Given the description of an element on the screen output the (x, y) to click on. 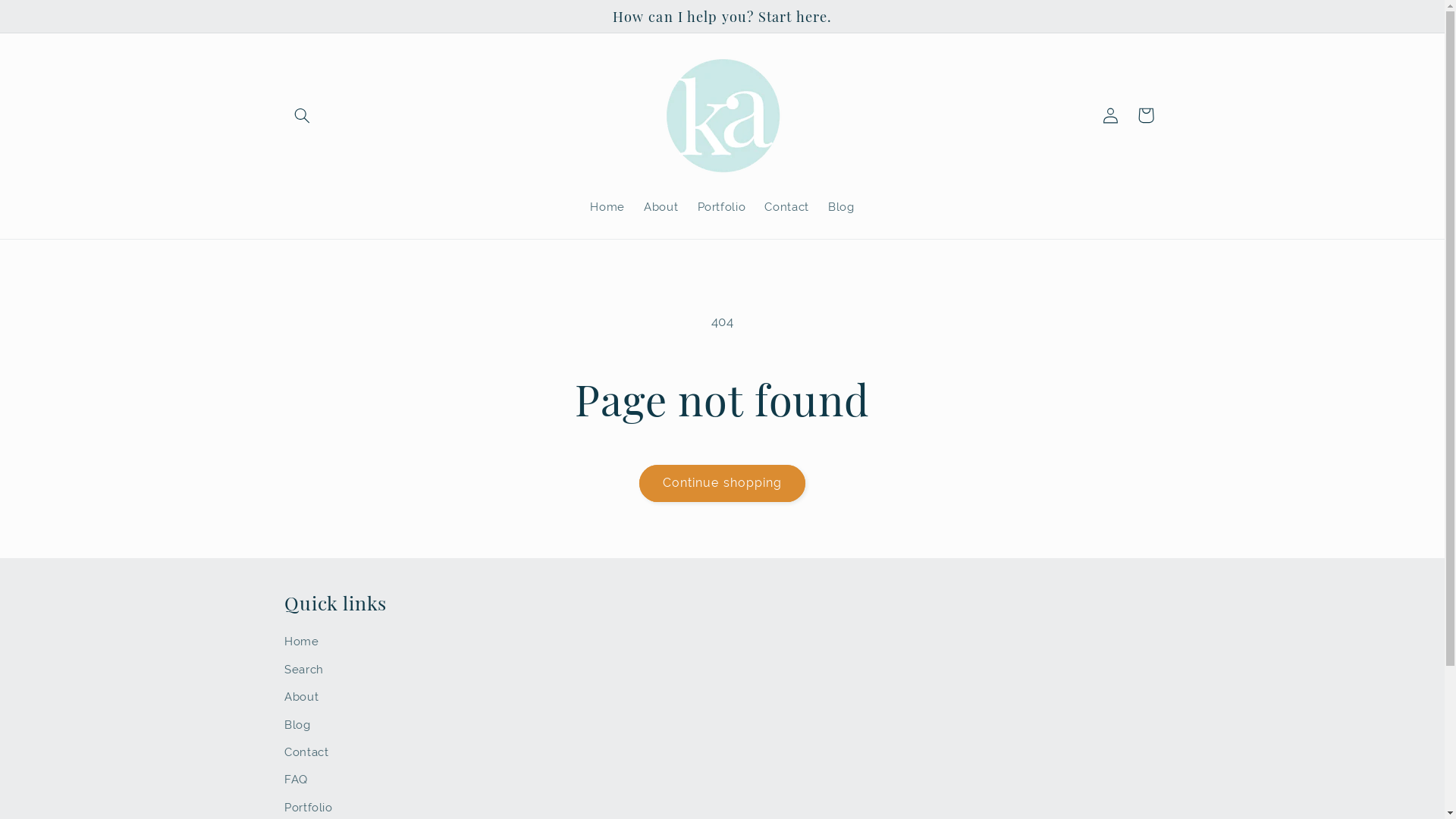
Continue shopping Element type: text (722, 483)
About Element type: text (301, 696)
About Element type: text (660, 206)
Blog Element type: text (840, 206)
FAQ Element type: text (295, 779)
Blog Element type: text (297, 723)
Portfolio Element type: text (721, 206)
Home Element type: text (607, 206)
Search Element type: text (303, 669)
Cart Element type: text (1145, 114)
Log in Element type: text (1110, 114)
Home Element type: text (301, 643)
Contact Element type: text (787, 206)
Contact Element type: text (306, 751)
